Given the description of an element on the screen output the (x, y) to click on. 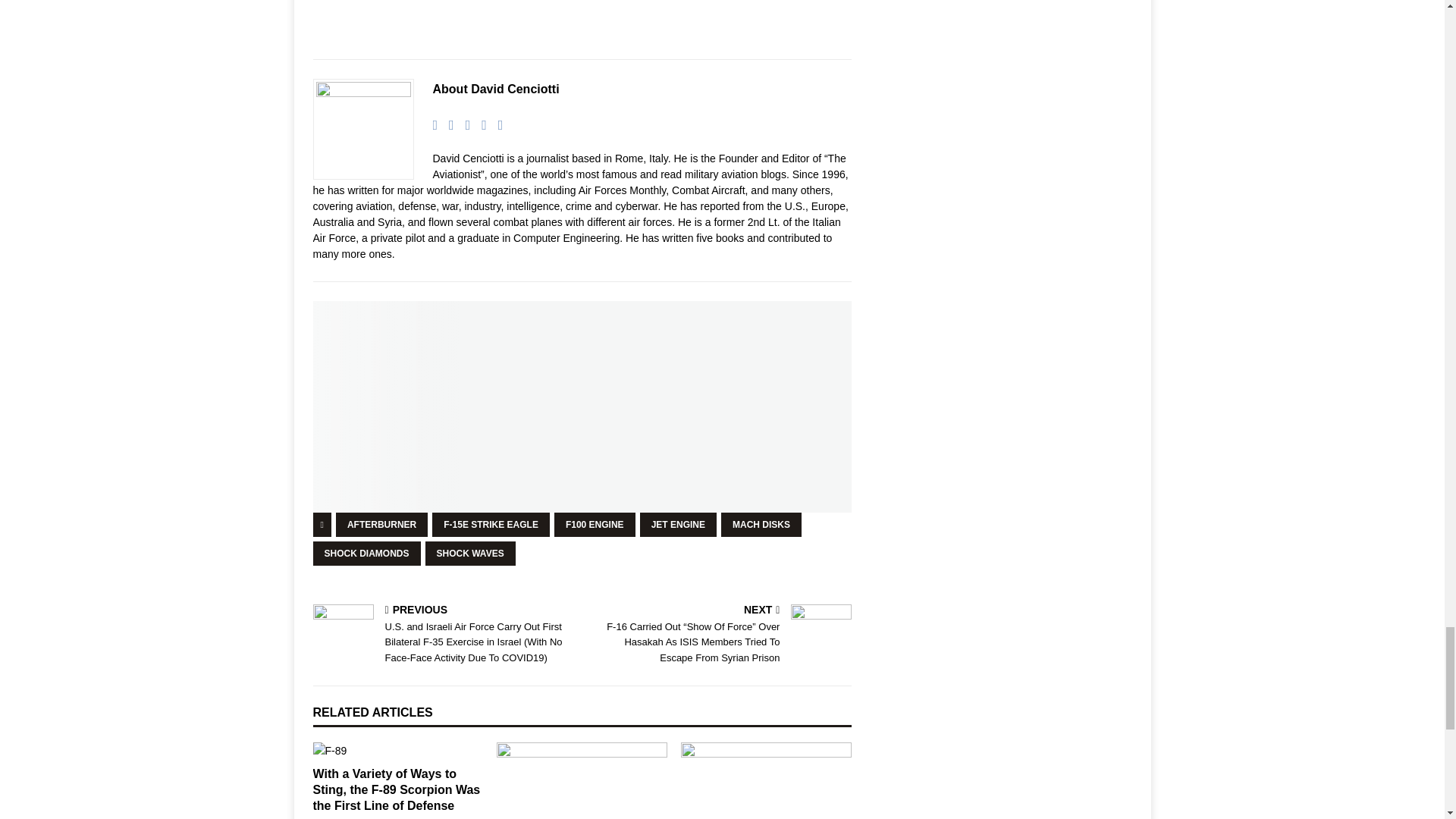
Follow David Cenciotti on Twitter (462, 124)
MACH DISKS (761, 524)
F-15E STRIKE EAGLE (491, 524)
JET ENGINE (678, 524)
SHOCK WAVES (470, 553)
Follow David Cenciotti on instagram (494, 124)
F100 ENGINE (594, 524)
Follow David Cenciotti on Facebook (446, 124)
AFTERBURNER (382, 524)
SHOCK DIAMONDS (366, 553)
Follow David Cenciotti on LinkedIn (478, 124)
